Given the description of an element on the screen output the (x, y) to click on. 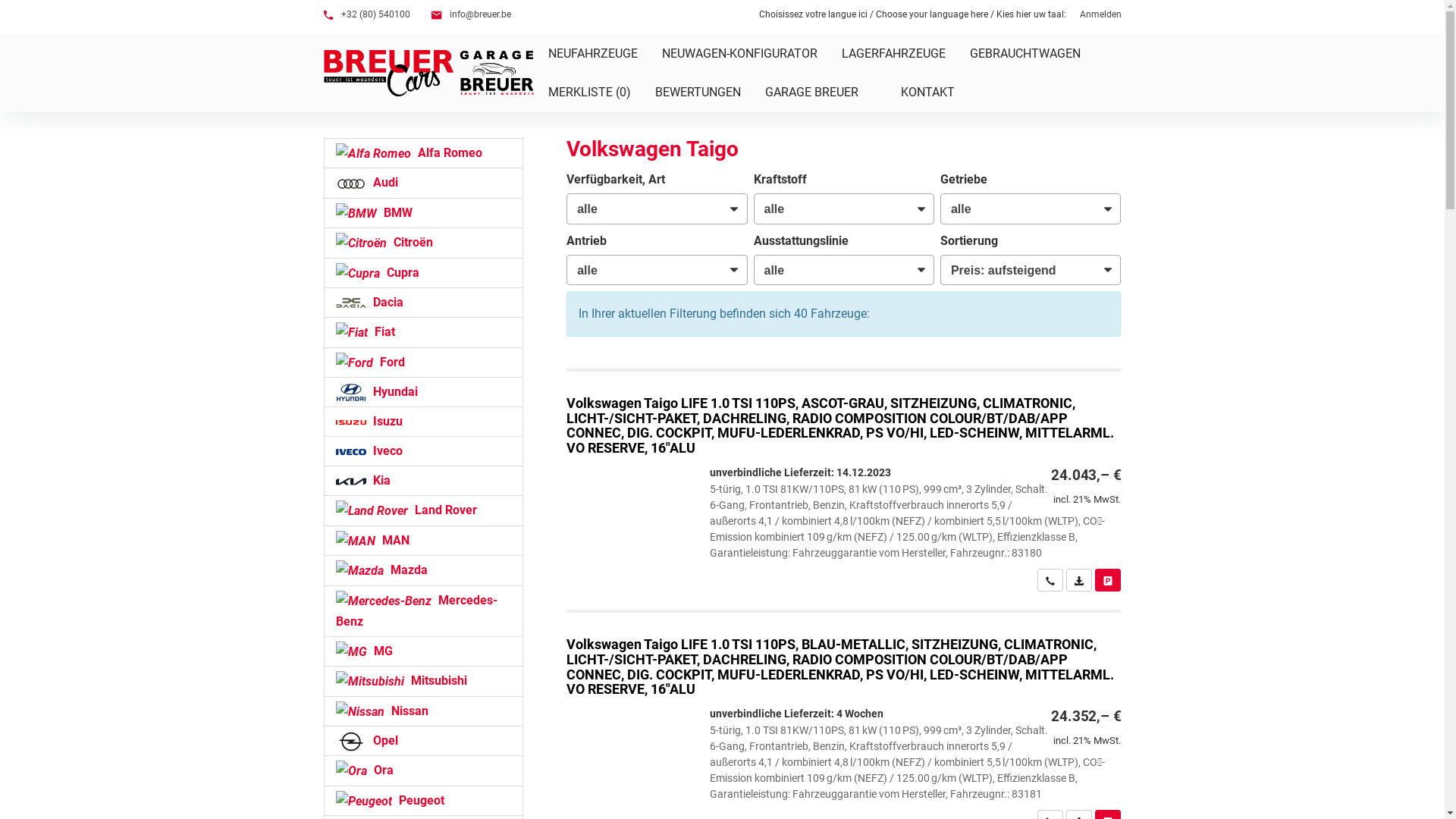
LAGERFAHRZEUGE Element type: text (893, 53)
Land Rover Element type: text (422, 510)
NEUFAHRZEUGE Element type: text (592, 53)
info@breuer.be Element type: text (470, 14)
MERKLISTE (0) Element type: text (588, 91)
Mazda Element type: text (422, 570)
Peugeot Element type: text (422, 800)
MG Element type: text (422, 651)
Hyundai Element type: text (422, 391)
+32 (80) 540100 Element type: text (366, 14)
Mitsubishi Element type: text (422, 680)
MAN Element type: text (422, 540)
NEUWAGEN-KONFIGURATOR Element type: text (738, 53)
Audi Element type: text (422, 182)
Opel Element type: text (422, 740)
Mercedes-Benz Element type: text (422, 611)
BEWERTUNGEN Element type: text (698, 91)
Nissan Element type: text (422, 711)
BMW Element type: text (422, 212)
Dacia Element type: text (422, 302)
Fahrzeug parken Element type: text (1107, 579)
KONTAKT Element type: text (936, 91)
Fiat Element type: text (422, 331)
GEBRAUCHTWAGEN Element type: text (1024, 53)
GARAGE BREUER Element type: text (820, 91)
Isuzu Element type: text (422, 421)
Anmelden Element type: text (1100, 14)
Ford Element type: text (422, 362)
Alfa Romeo Element type: text (422, 153)
Kia Element type: text (422, 480)
Iveco Element type: text (422, 451)
Ora Element type: text (422, 770)
Cupra Element type: text (422, 272)
Wir rufen Sie an Element type: text (1050, 579)
